Given the description of an element on the screen output the (x, y) to click on. 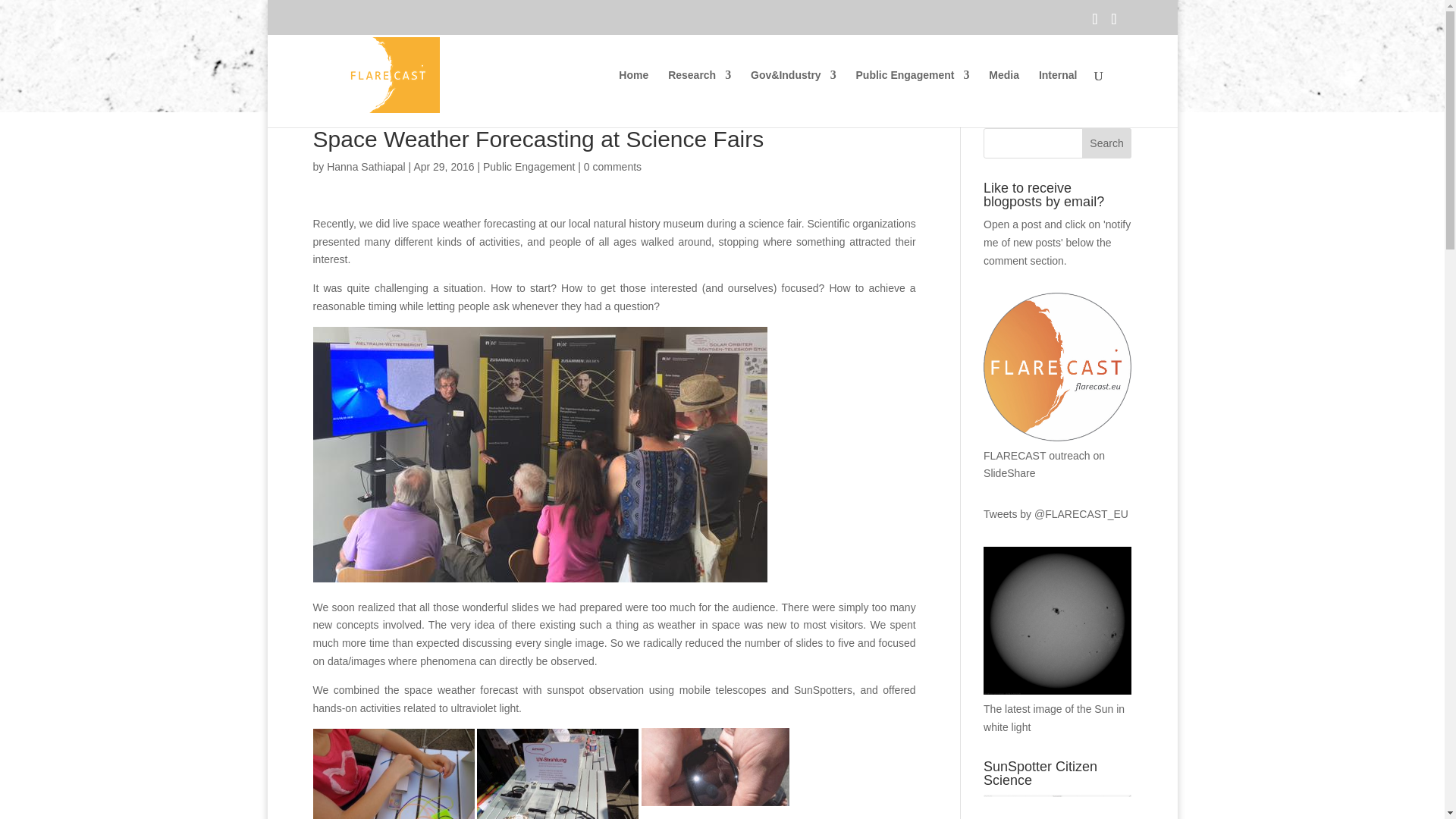
Posts by Hanna Sathiapal (366, 166)
Hanna Sathiapal (366, 166)
FLARECAST outreach on SlideShare (1057, 455)
Public Engagement (912, 98)
Research (699, 98)
Public Engagement (529, 166)
Search (1106, 142)
Search (1106, 142)
0 comments (612, 166)
